Given the description of an element on the screen output the (x, y) to click on. 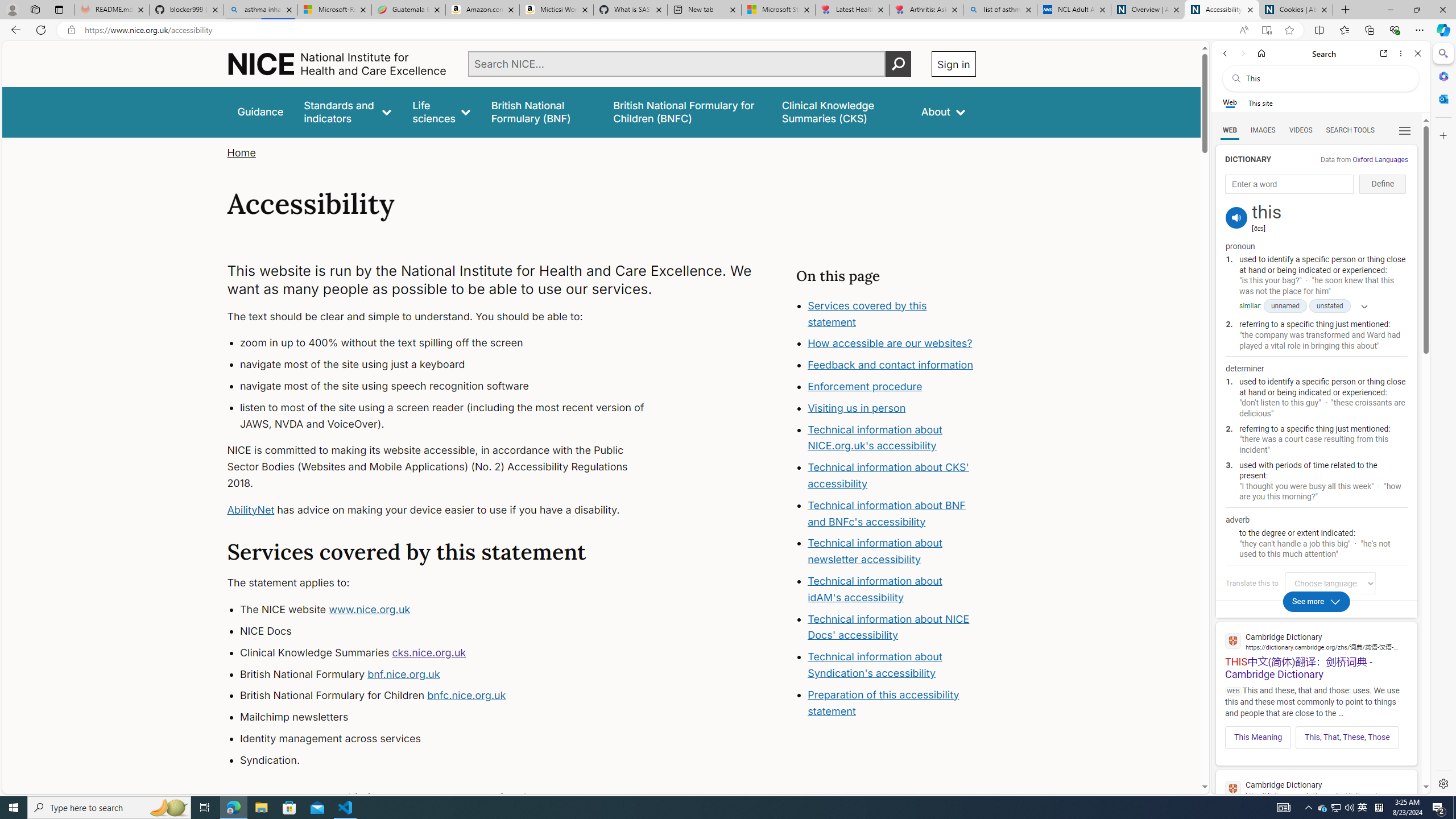
bnf.nice.org.uk (402, 673)
